Given the description of an element on the screen output the (x, y) to click on. 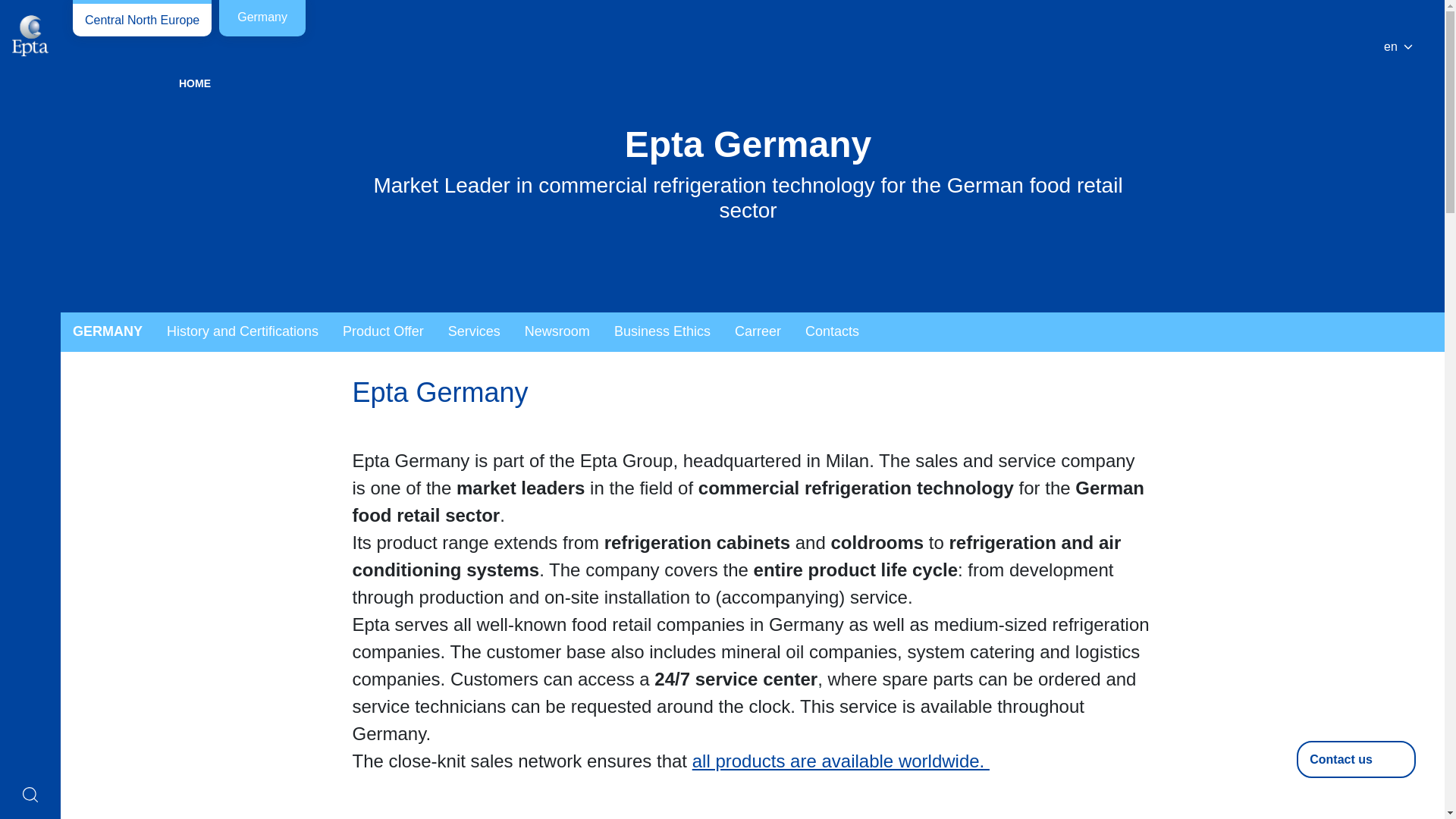
Product Offer (382, 332)
Expand menu Germany (107, 332)
Services (473, 332)
GERMANY (107, 332)
Skip to main content (60, 10)
Business Ethics (662, 332)
Central North Europe (141, 18)
History and Certifications (242, 332)
all products are available worldwide.  (841, 761)
Germany (262, 18)
Contacts (831, 332)
Newsroom (557, 332)
Carreer (757, 332)
